Given the description of an element on the screen output the (x, y) to click on. 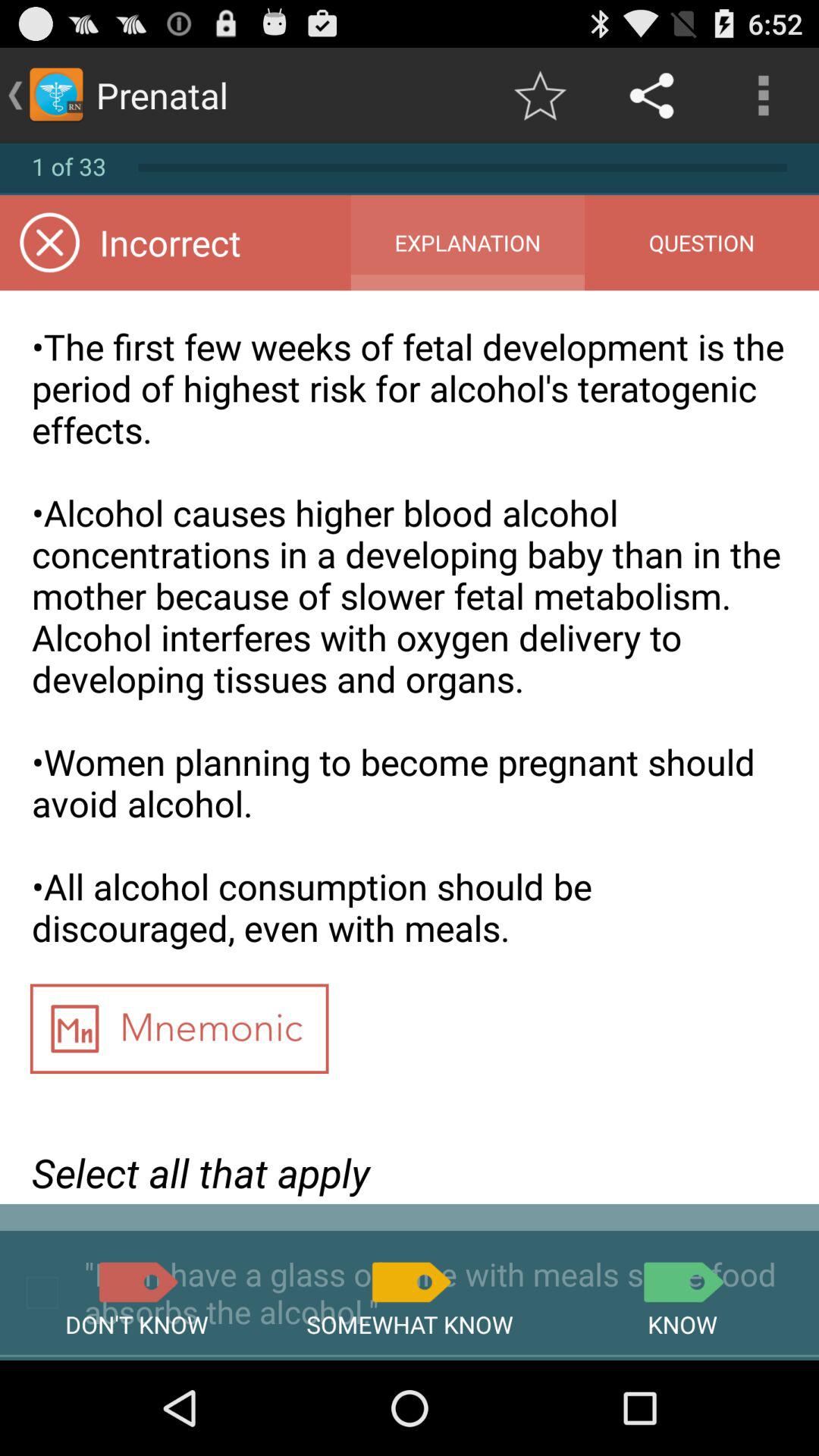
open the explanation icon (467, 242)
